Given the description of an element on the screen output the (x, y) to click on. 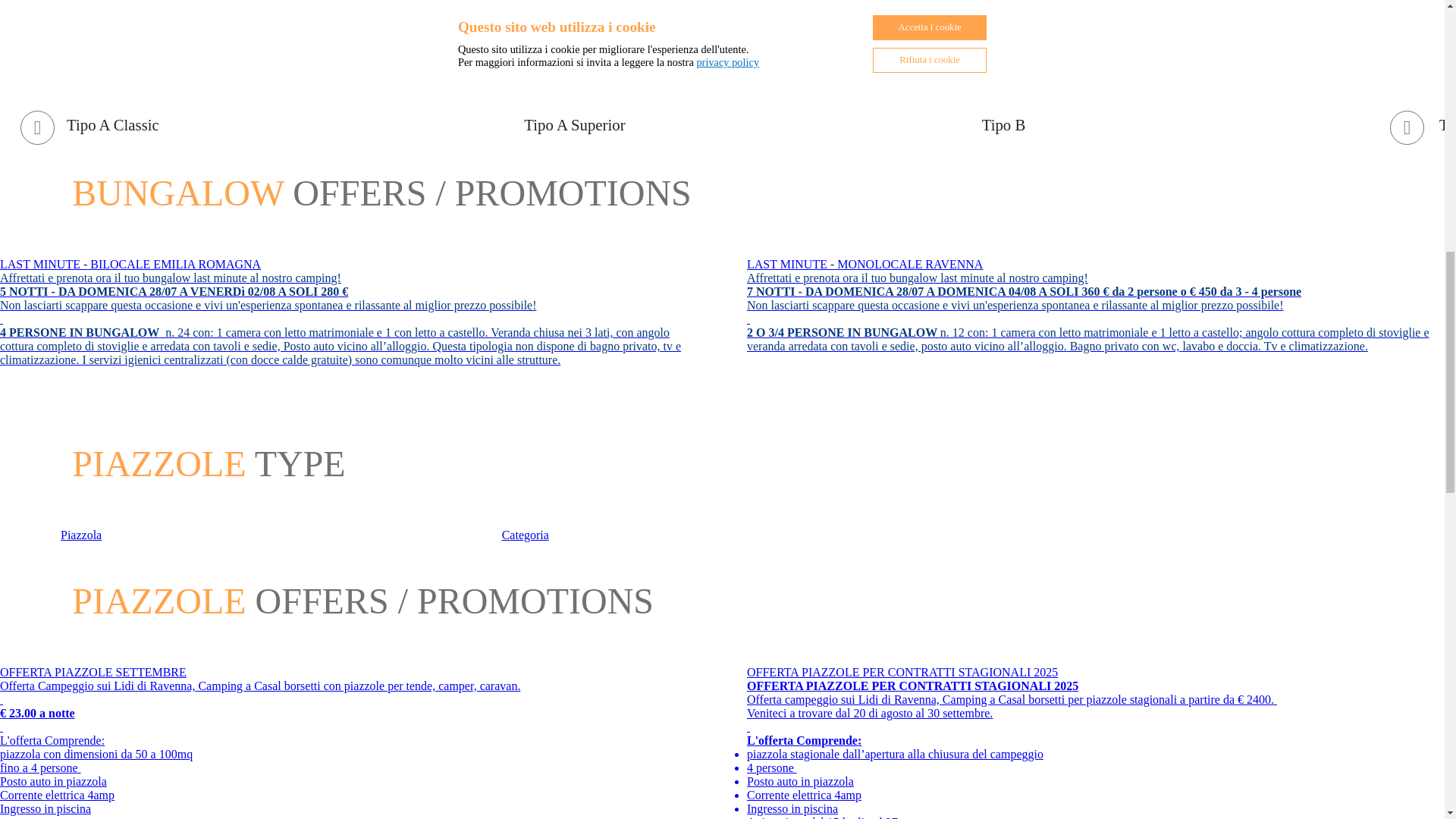
Tipo B (1179, 114)
OFFERTA PIAZZOLE SETTEMBRE (348, 672)
Tipo A Classic (264, 114)
Piazzola (281, 528)
Tipo A Superior (722, 114)
Categoria (722, 528)
